Given the description of an element on the screen output the (x, y) to click on. 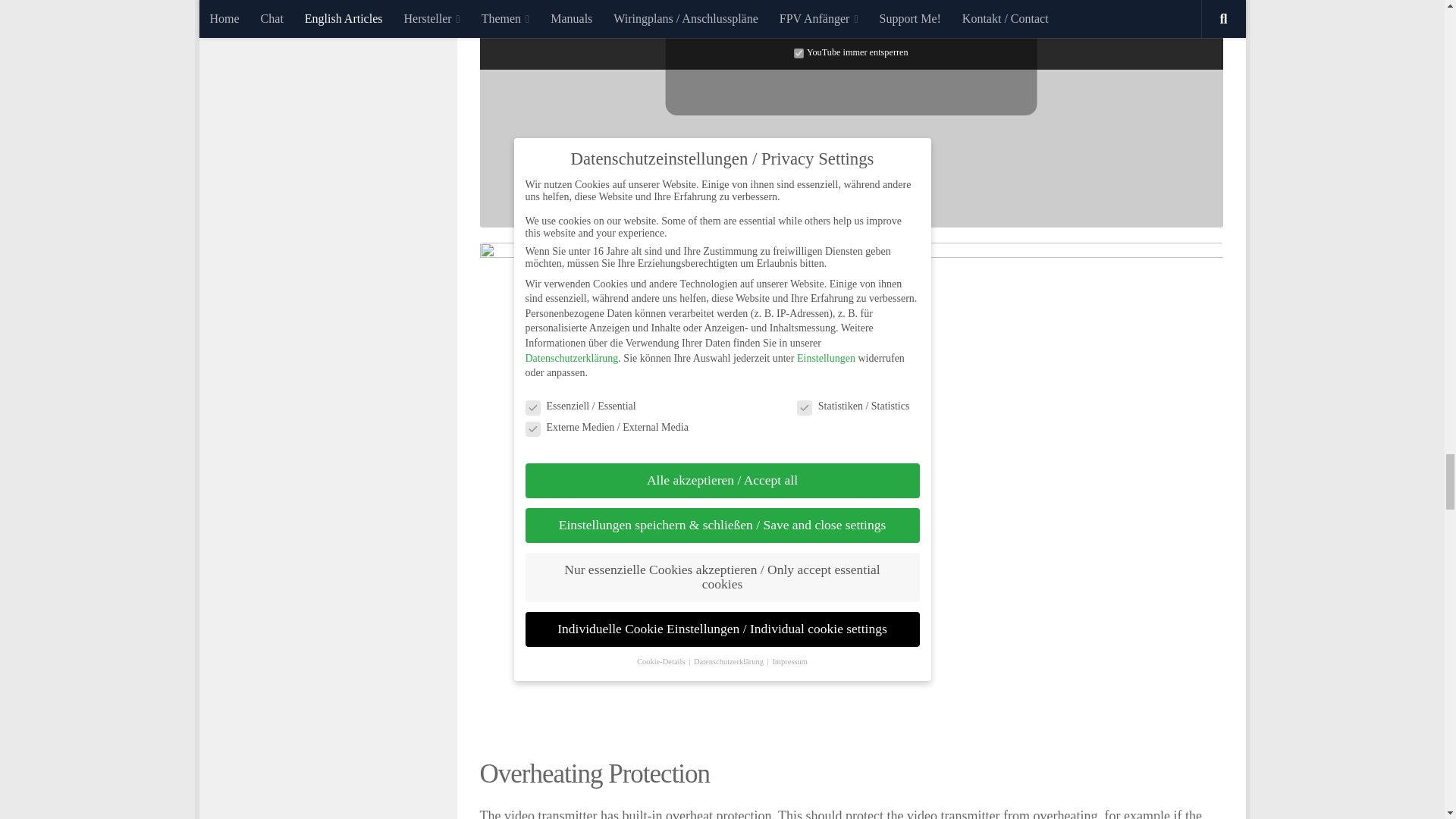
1 (798, 52)
